Given the description of an element on the screen output the (x, y) to click on. 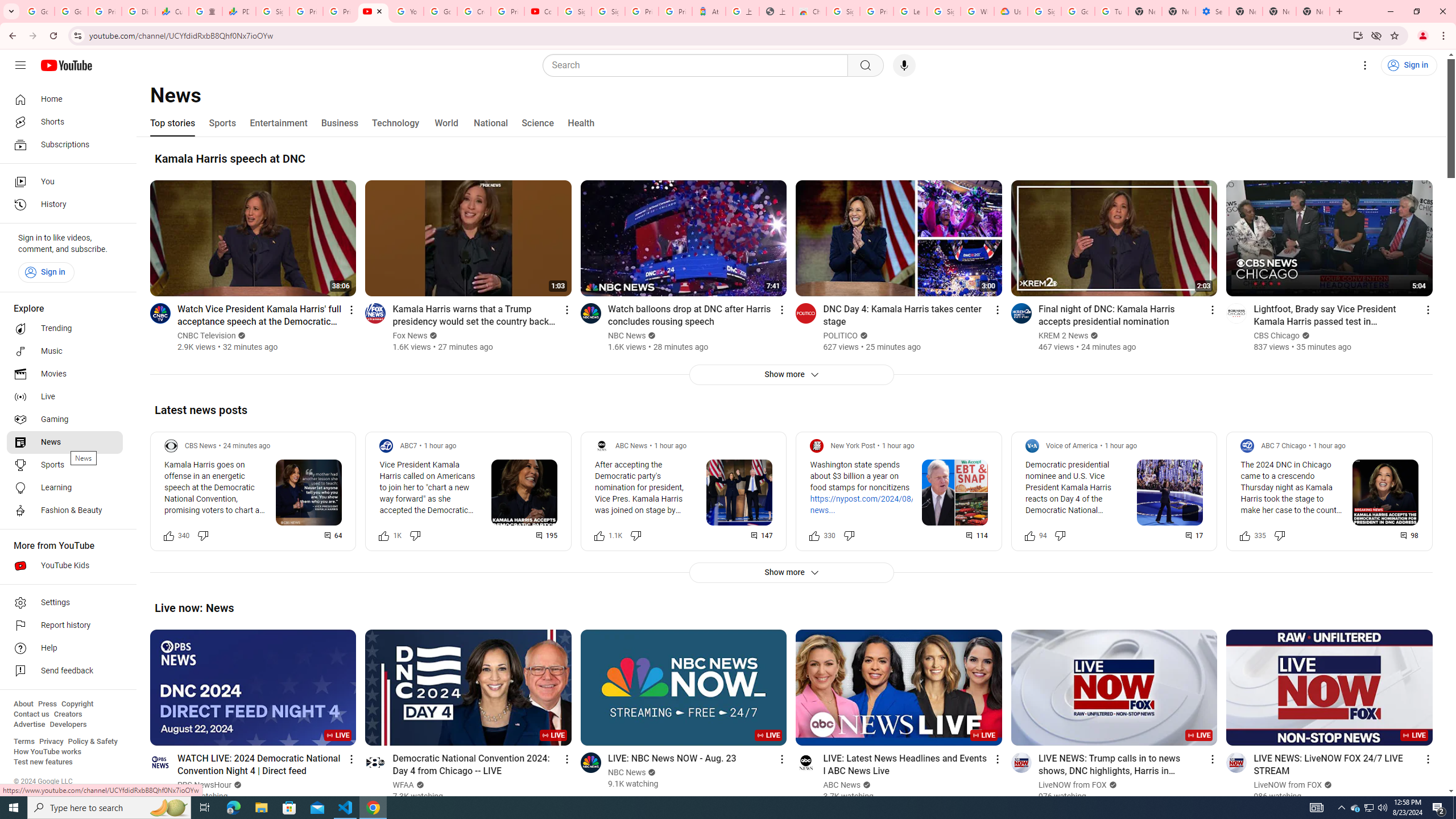
Sign in - Google Accounts (943, 11)
PDD Holdings Inc - ADR (PDD) Price & News - Google Finance (238, 11)
Like this post along with 340 other people (168, 534)
Business (339, 122)
Copyright (77, 703)
New Tab (1246, 11)
Search with your voice (903, 65)
